Given the description of an element on the screen output the (x, y) to click on. 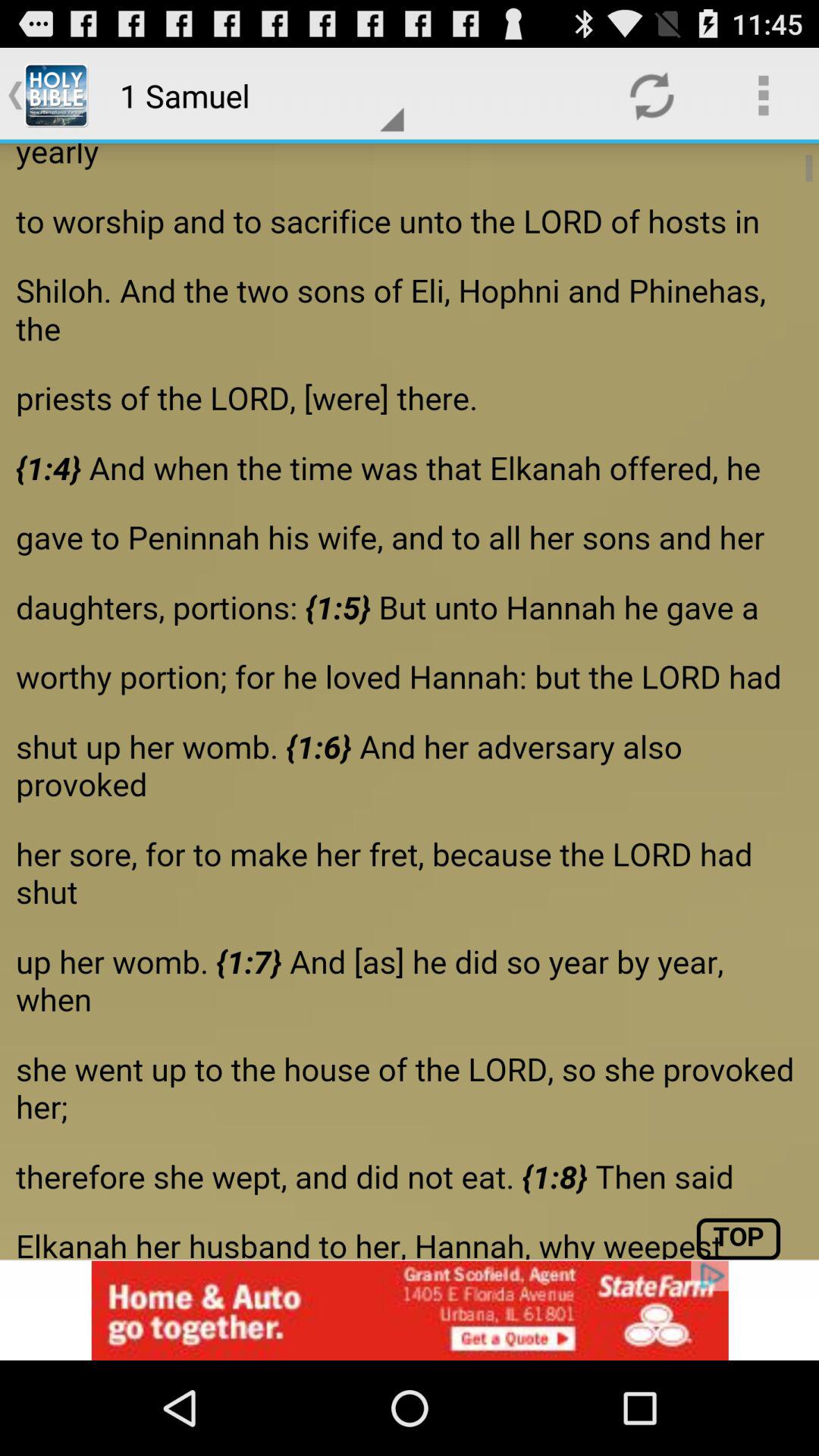
description (409, 701)
